Given the description of an element on the screen output the (x, y) to click on. 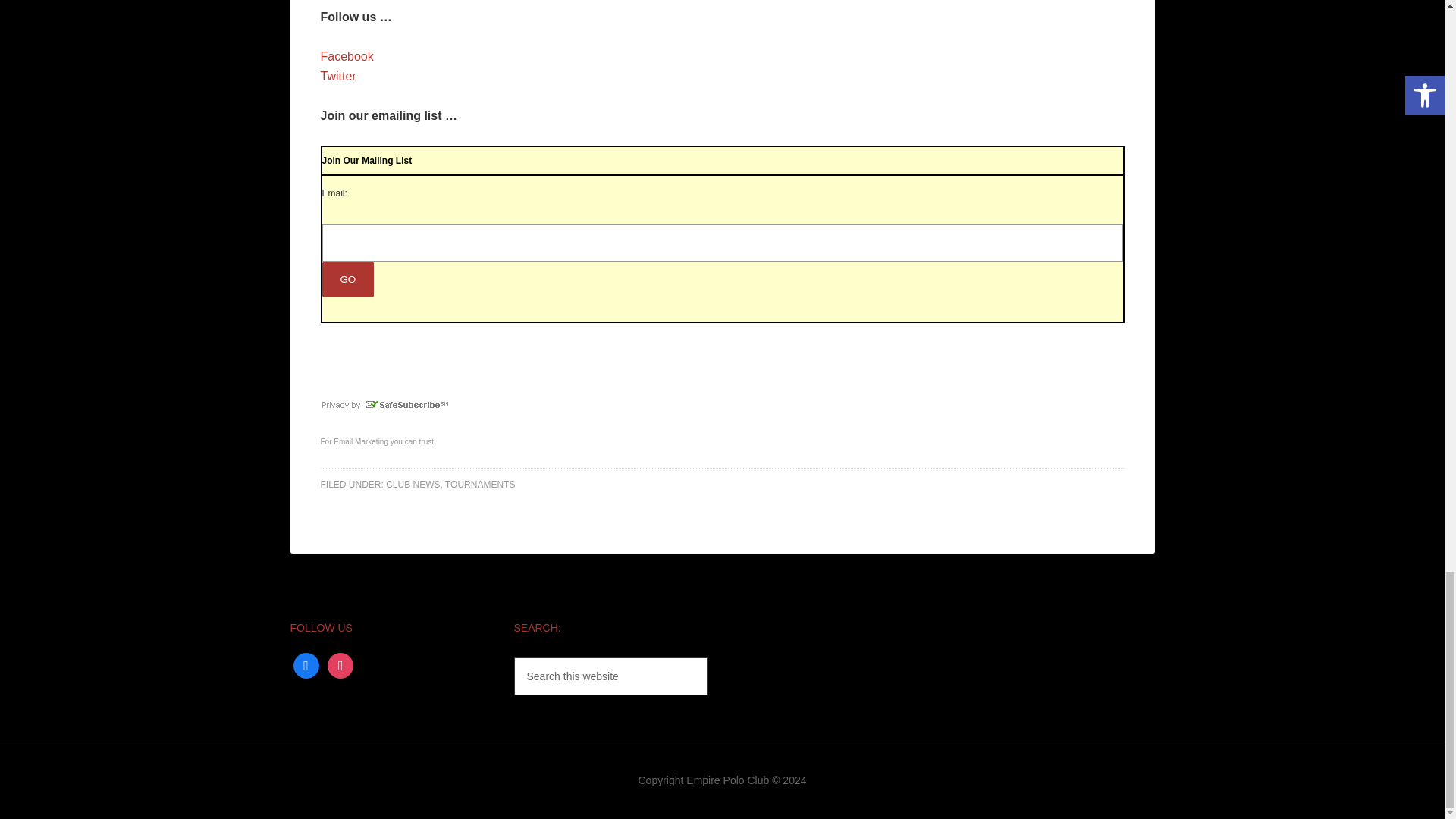
Twitter (337, 75)
Go (347, 279)
Instagram (340, 664)
Go (347, 279)
Facebook (346, 56)
CLUB NEWS (412, 484)
Facebook (305, 664)
instagram (340, 664)
Email Marketing (360, 441)
facebook (305, 664)
TOURNAMENTS (480, 484)
